Given the description of an element on the screen output the (x, y) to click on. 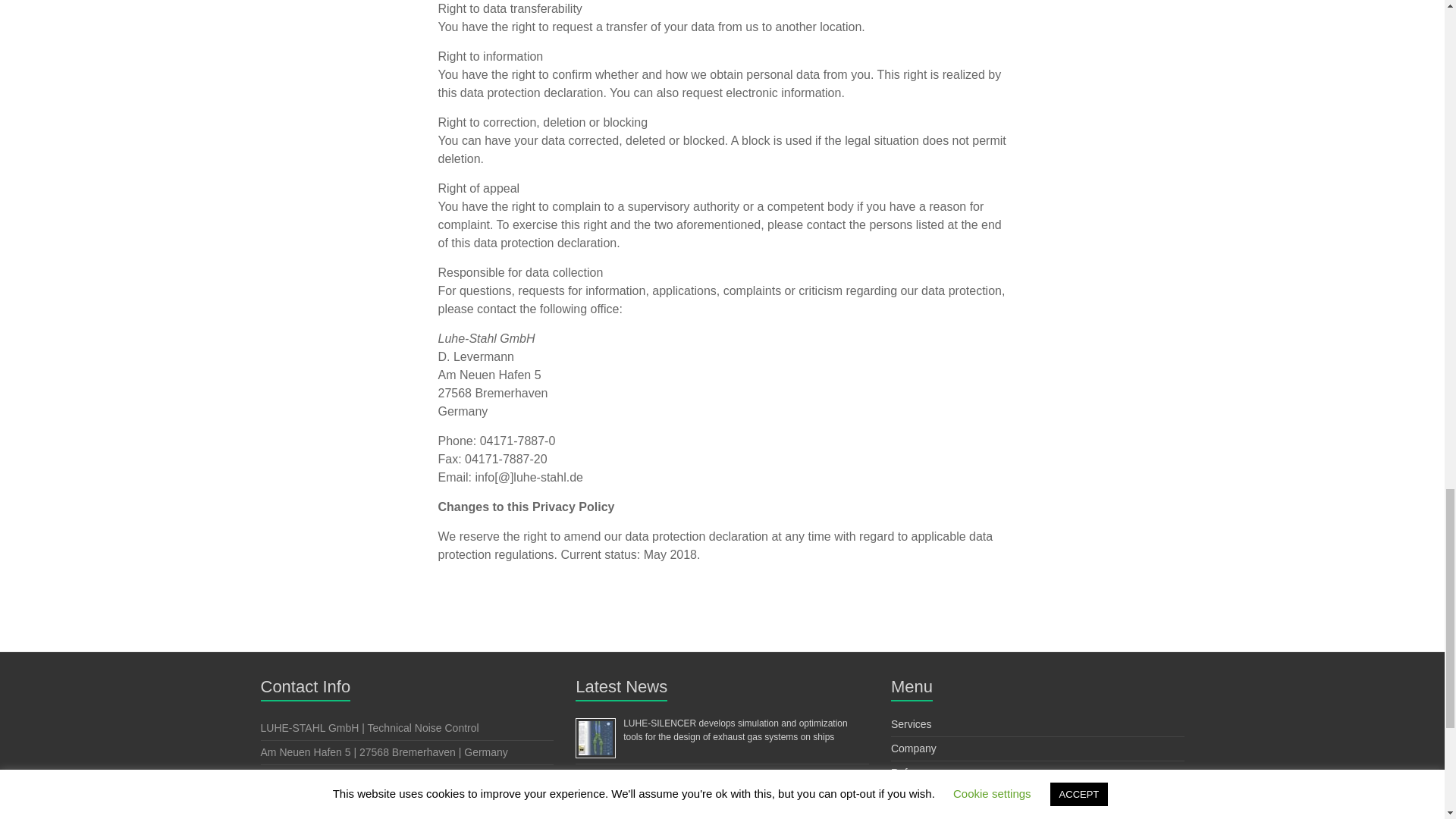
Services (911, 724)
Quality (907, 797)
References (917, 772)
News (904, 816)
Company (913, 748)
